Given the description of an element on the screen output the (x, y) to click on. 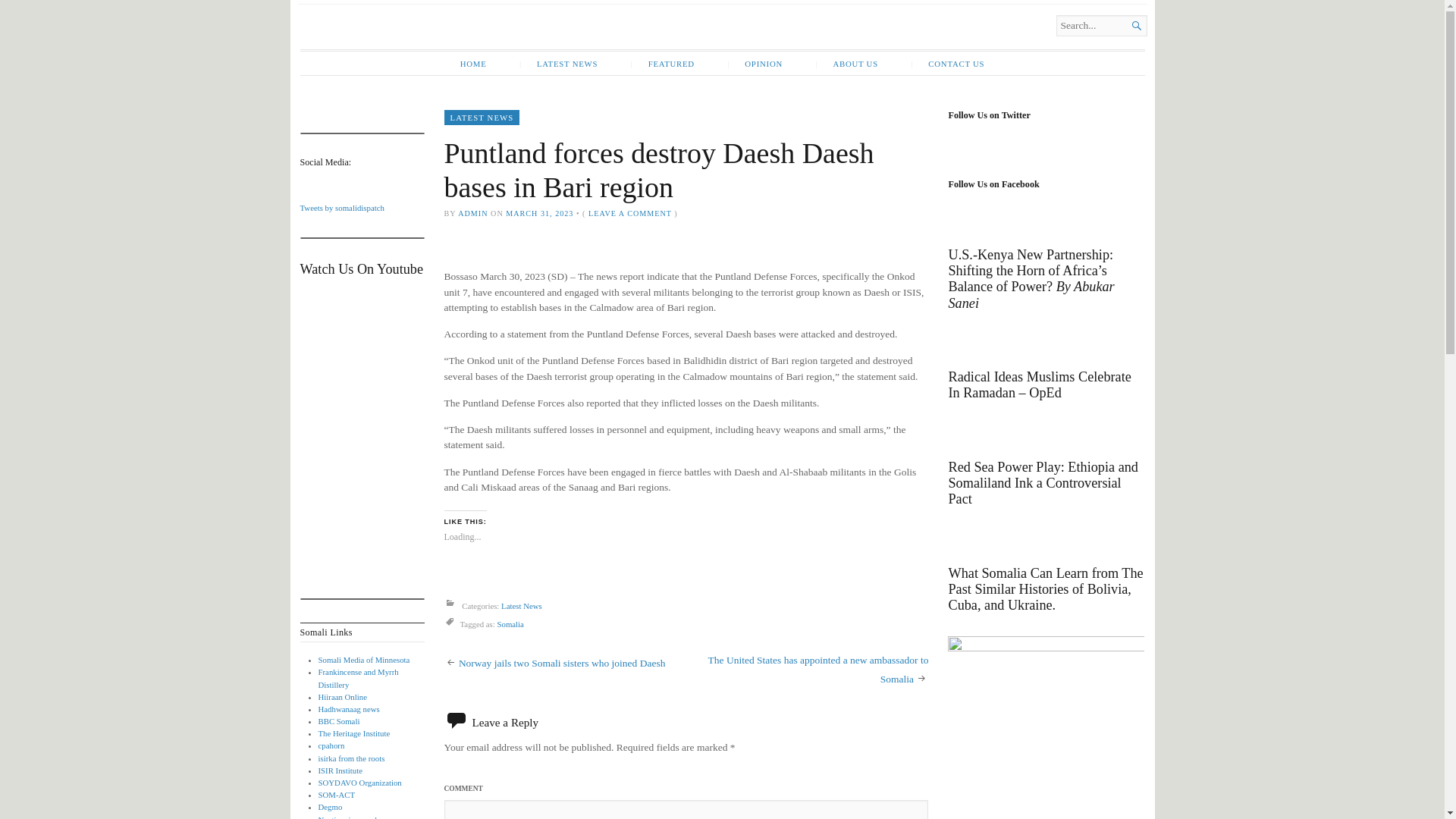
3:14 am (539, 213)
LATEST NEWS (557, 63)
FEATURED (662, 63)
View all posts by admin (472, 213)
Somali Dispatch (463, 44)
Hadhwanaag news (349, 708)
OPINION (754, 63)
Frankincense and Myrrh Distillery (358, 677)
cpahorn (331, 745)
HOME (473, 63)
SOM-ACT (336, 794)
The Heritage Institute (354, 732)
ADMIN (472, 213)
MARCH 31, 2023 (539, 213)
